Given the description of an element on the screen output the (x, y) to click on. 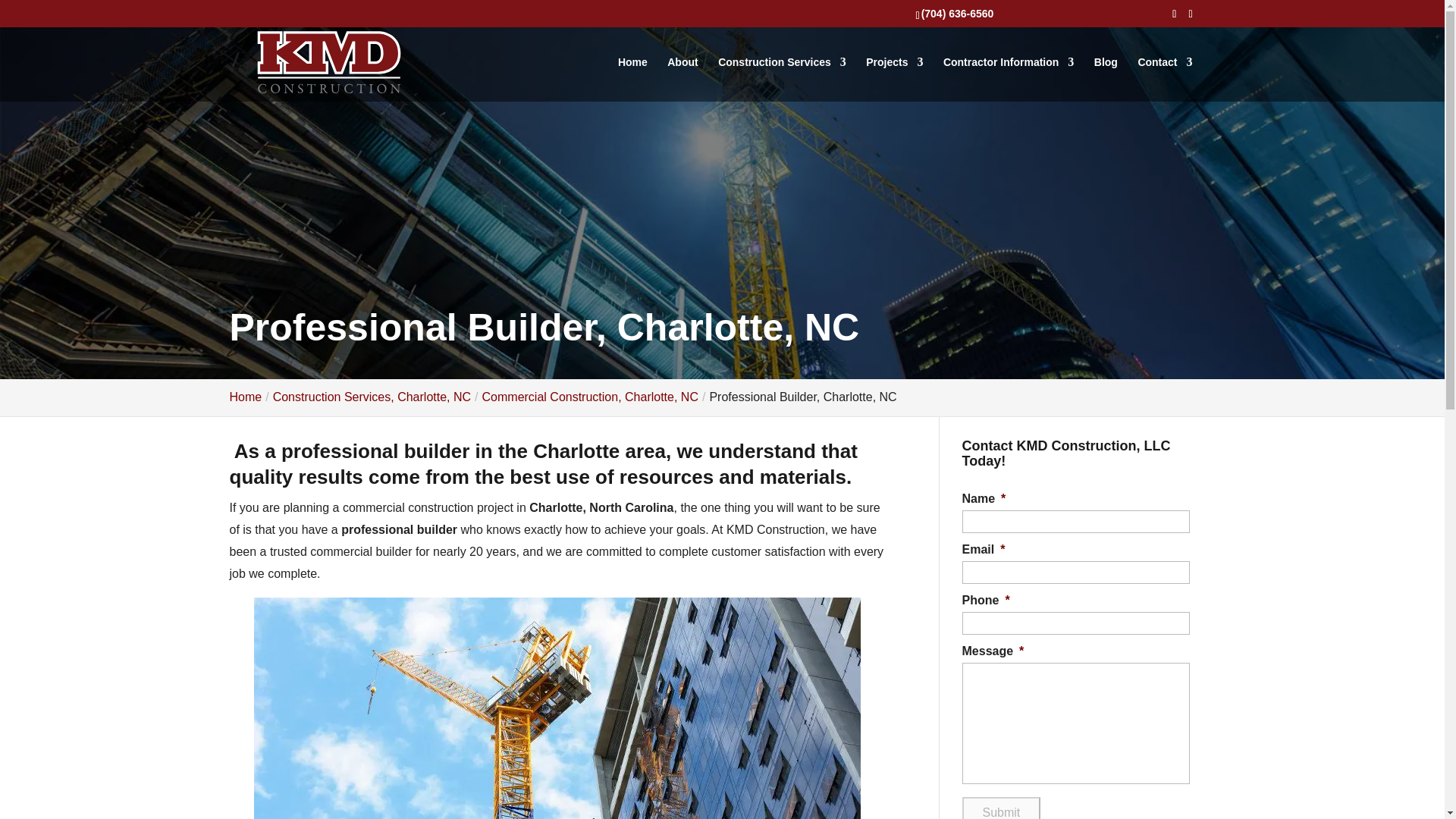
Contractor Information (1008, 78)
Submit (1000, 807)
Construction Services (781, 78)
Contact (1164, 78)
Go to Construction Services, Charlotte, NC. (371, 396)
Home (245, 396)
Projects (894, 78)
Construction Services, Charlotte, NC (371, 396)
Go to Commercial Construction, Charlotte, NC. (589, 396)
Go to KMD Construction, LLC. (245, 396)
